Given the description of an element on the screen output the (x, y) to click on. 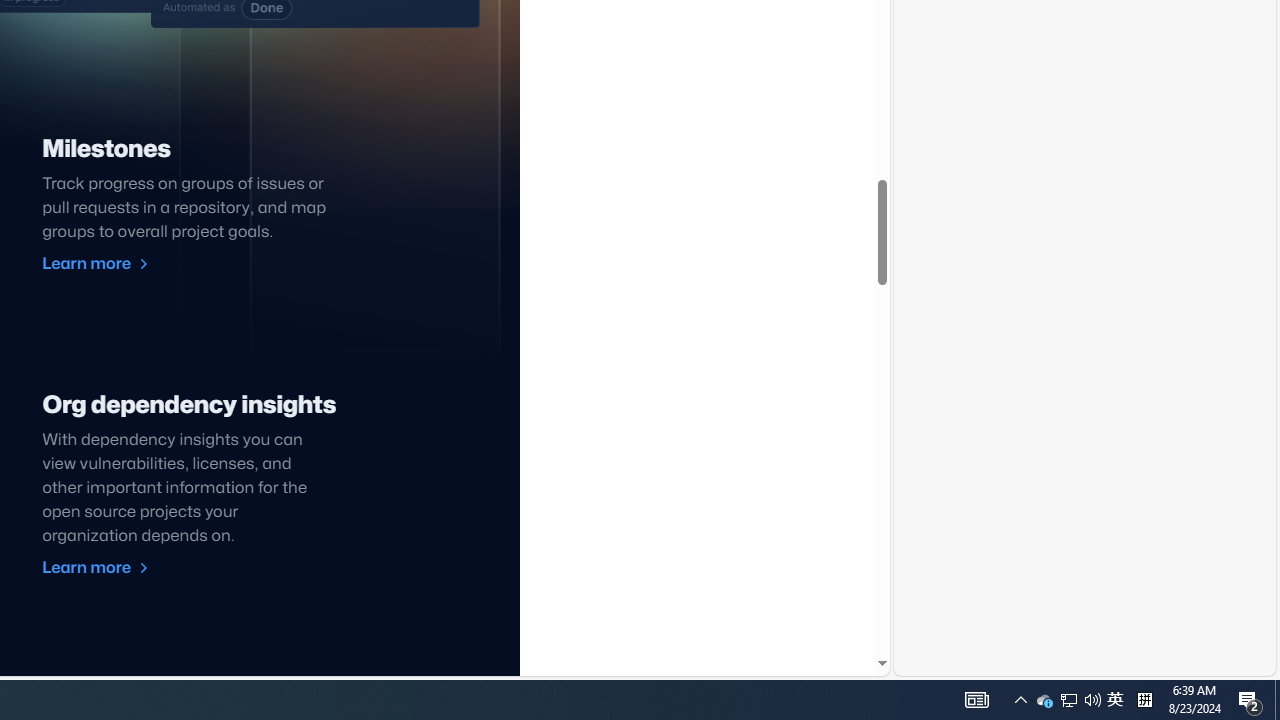
Class: octicon arrow-symbol-mktg (142, 568)
Learn more  (96, 568)
